Given the description of an element on the screen output the (x, y) to click on. 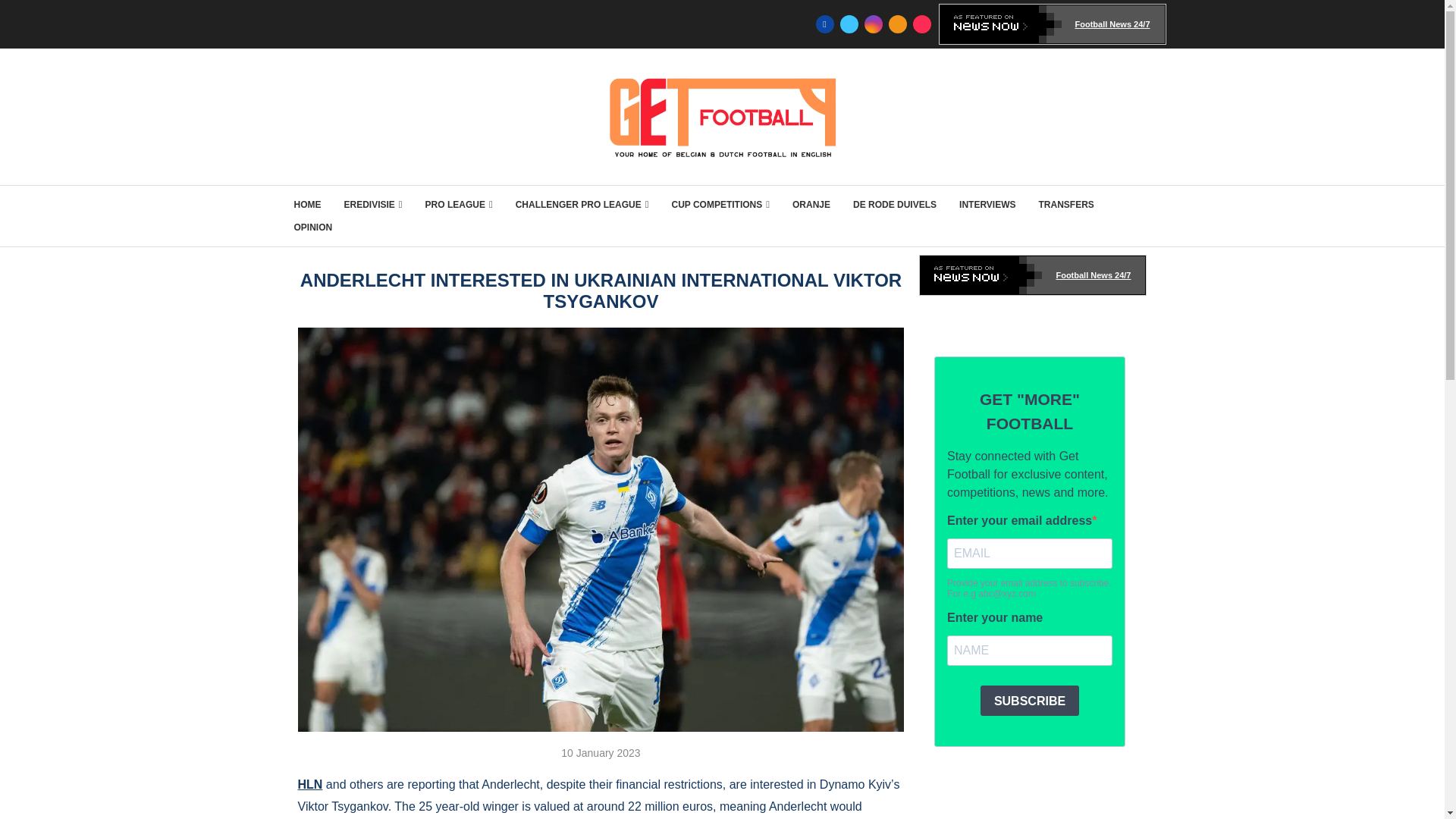
PRO LEAGUE (459, 204)
EREDIVISIE (373, 204)
Click here for more Football news from NewsNow (1052, 24)
HOME (307, 204)
Click here for more Football news from NewsNow (1032, 274)
